Given the description of an element on the screen output the (x, y) to click on. 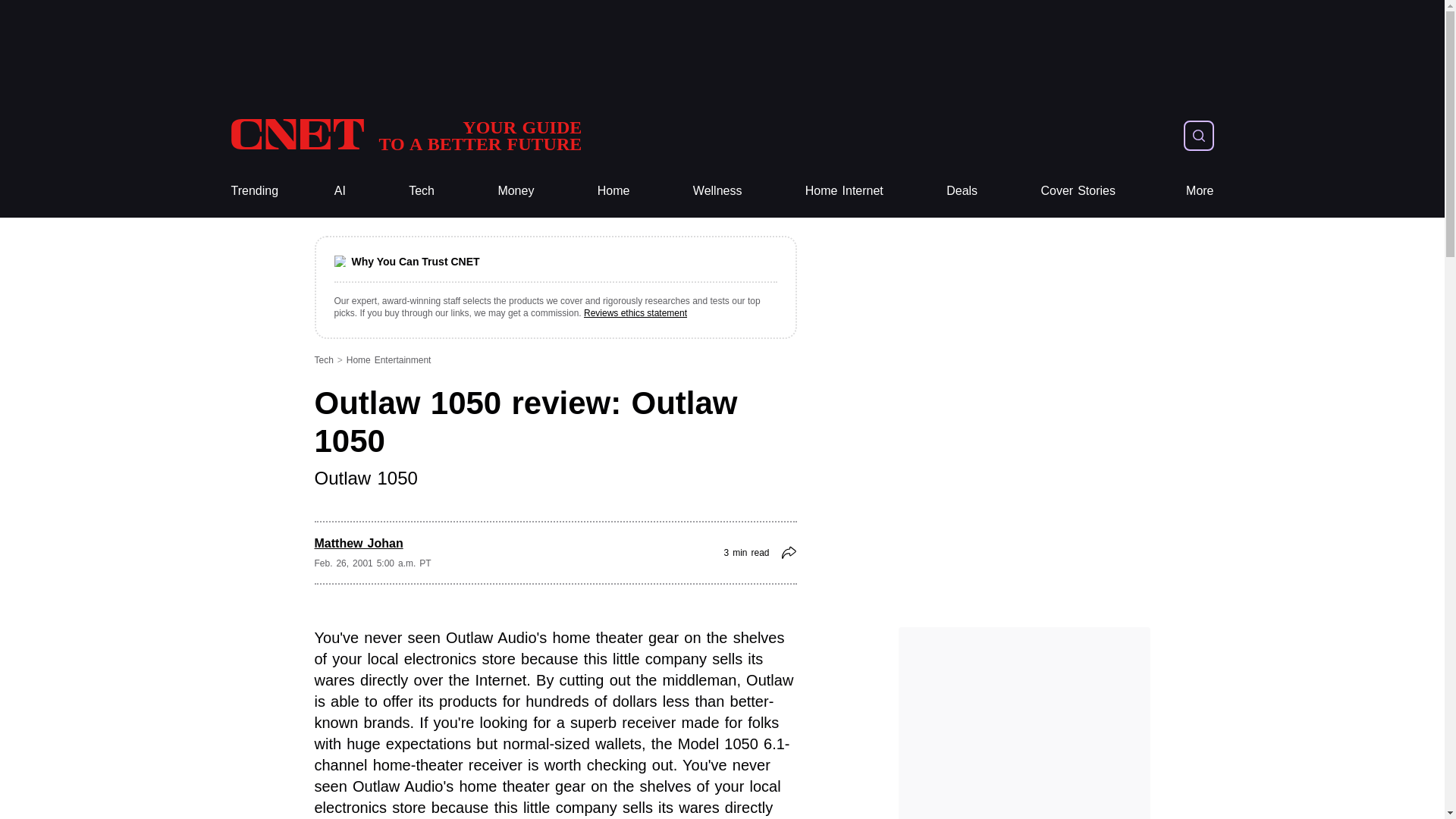
Wellness (717, 190)
Tech (421, 190)
Trending (254, 190)
Money (515, 190)
Money (515, 190)
Tech (421, 190)
CNET (405, 135)
Home Internet (844, 190)
Home Internet (844, 190)
Cover Stories (1078, 190)
